Given the description of an element on the screen output the (x, y) to click on. 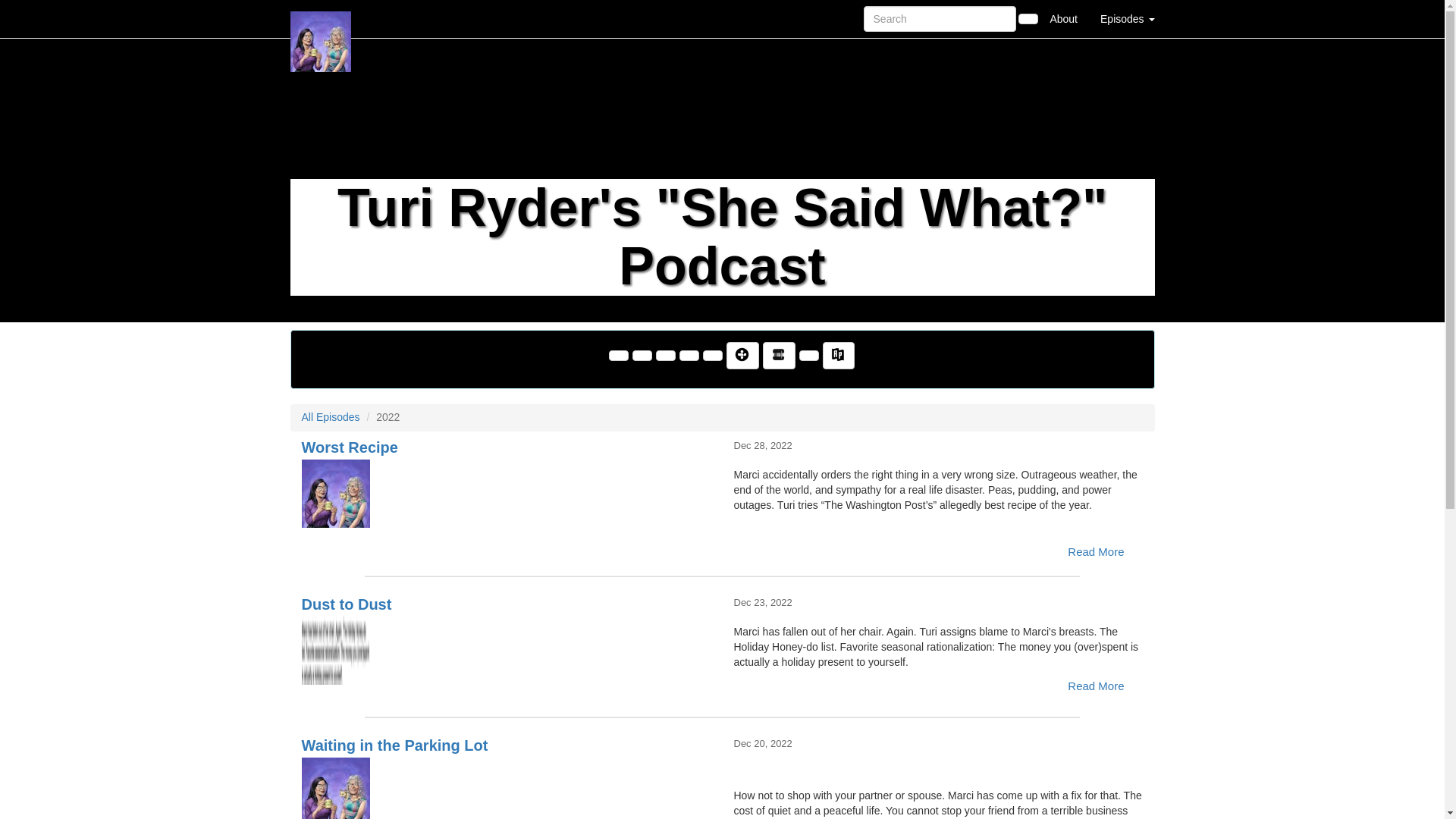
Waiting in the Parking Lot (506, 788)
About (1063, 18)
Worst Recipe (506, 493)
Home Page (320, 18)
Episodes (1127, 18)
Dust to Dust (506, 650)
